Given the description of an element on the screen output the (x, y) to click on. 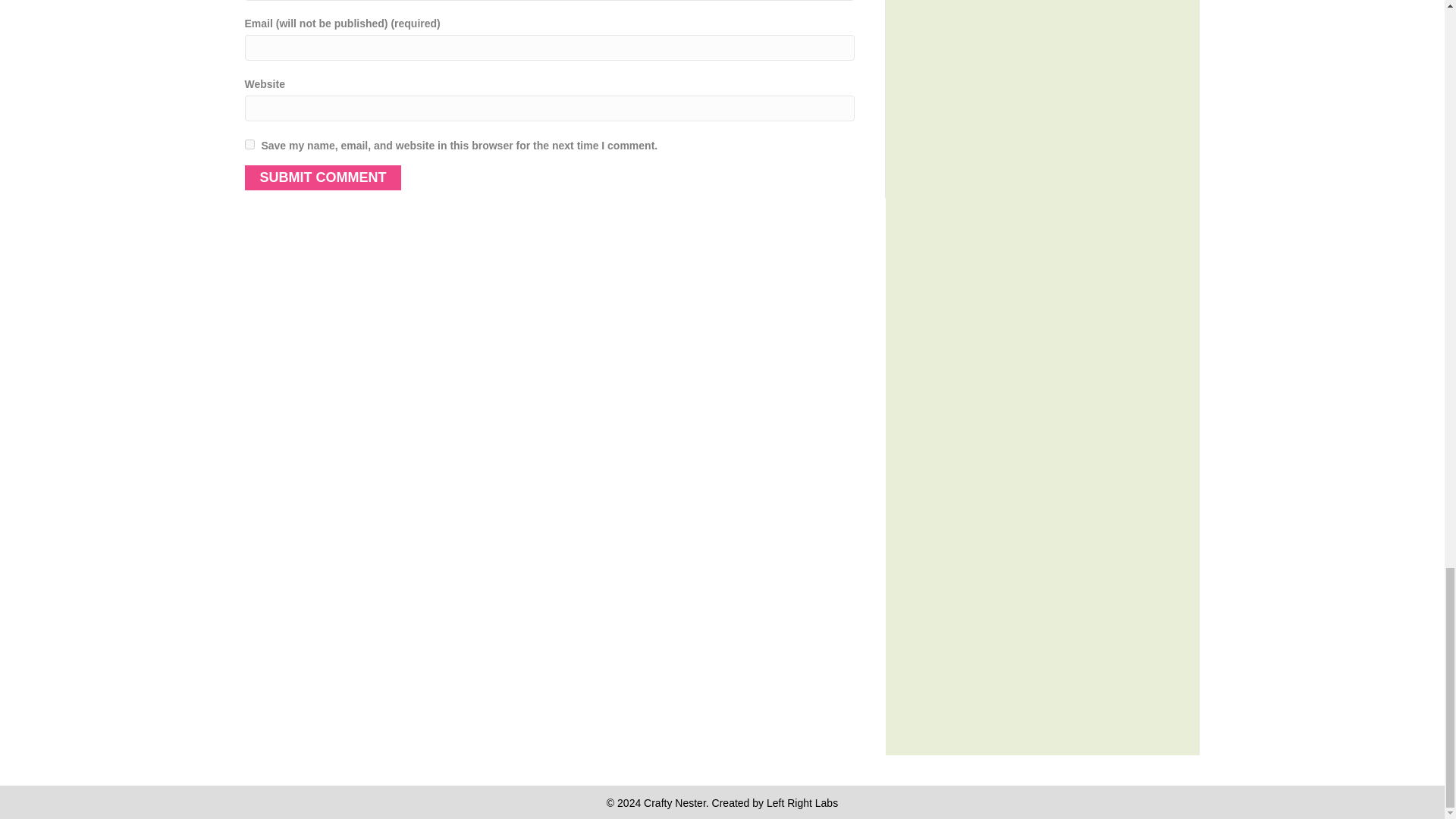
Submit Comment (322, 177)
yes (248, 144)
Submit Comment (322, 177)
